Given the description of an element on the screen output the (x, y) to click on. 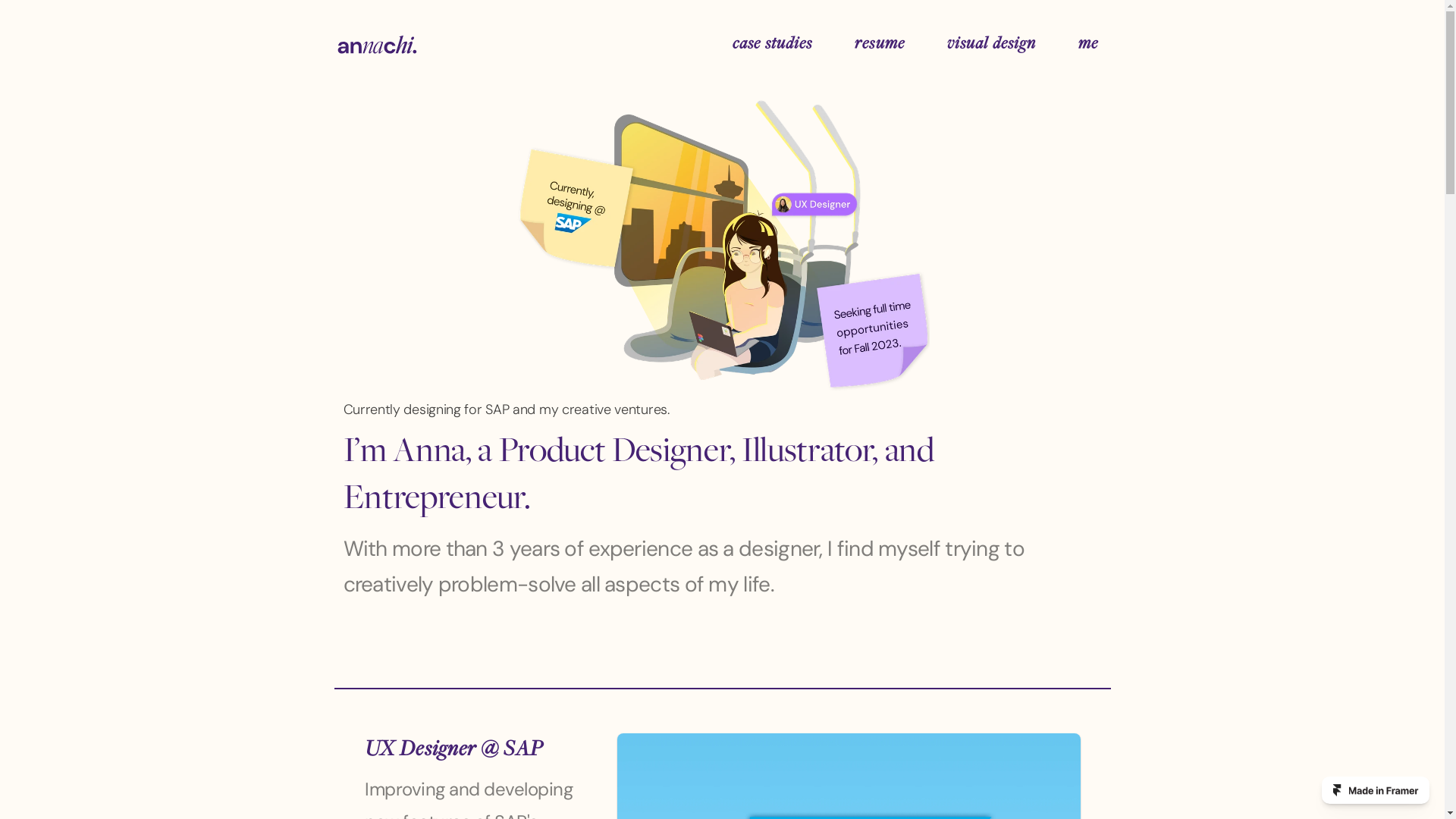
visual design Element type: text (991, 44)
case studies Element type: text (772, 44)
me Element type: text (1088, 44)
resume Element type: text (879, 44)
